Given the description of an element on the screen output the (x, y) to click on. 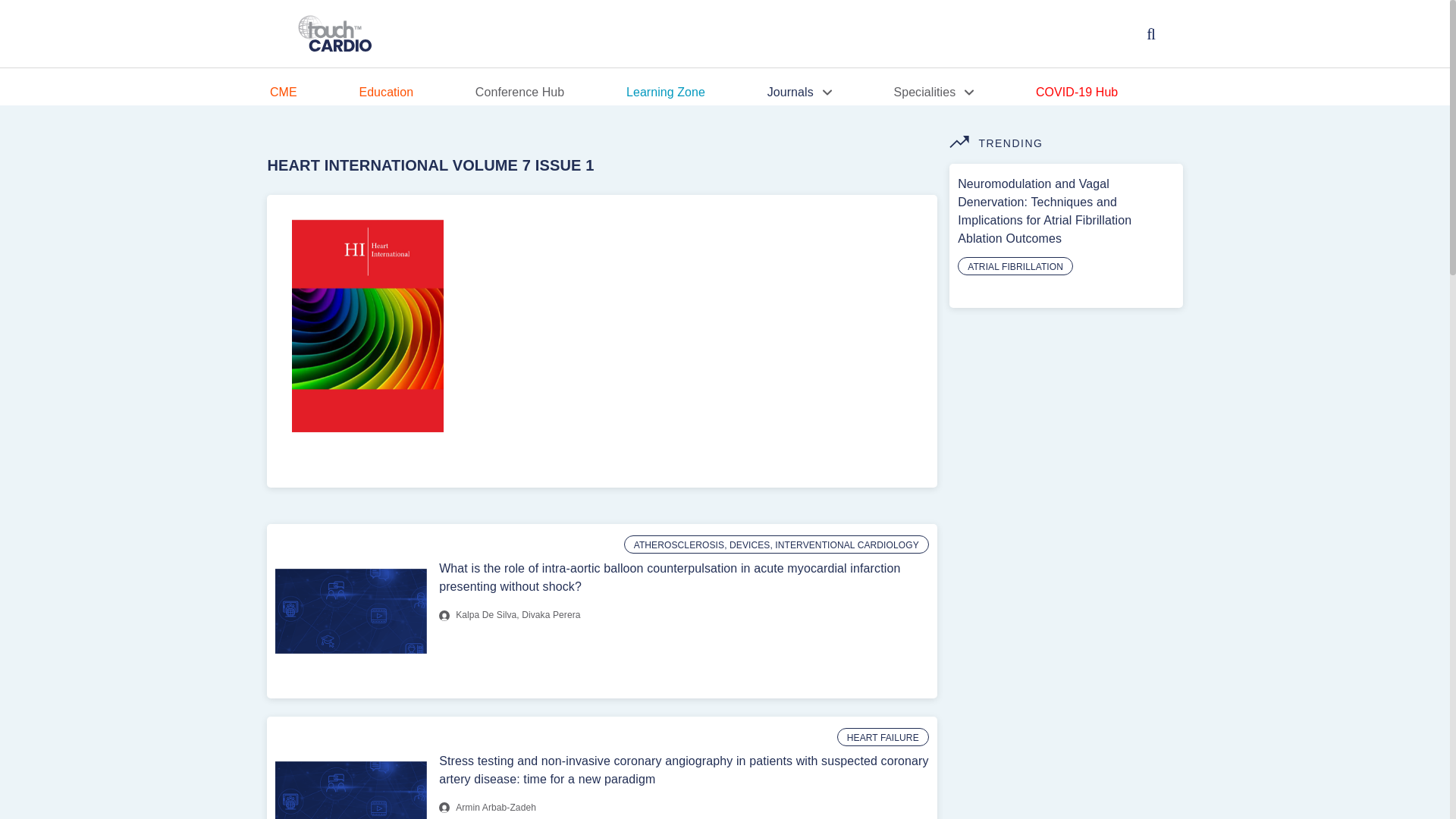
touchCARDIO (336, 34)
Journals (830, 92)
3rd party ad content (1062, 616)
Education (416, 92)
CME (313, 92)
3rd party ad content (1062, 414)
3rd party ad content (1062, 771)
Learning Zone (696, 92)
Conference Hub (551, 92)
